Given the description of an element on the screen output the (x, y) to click on. 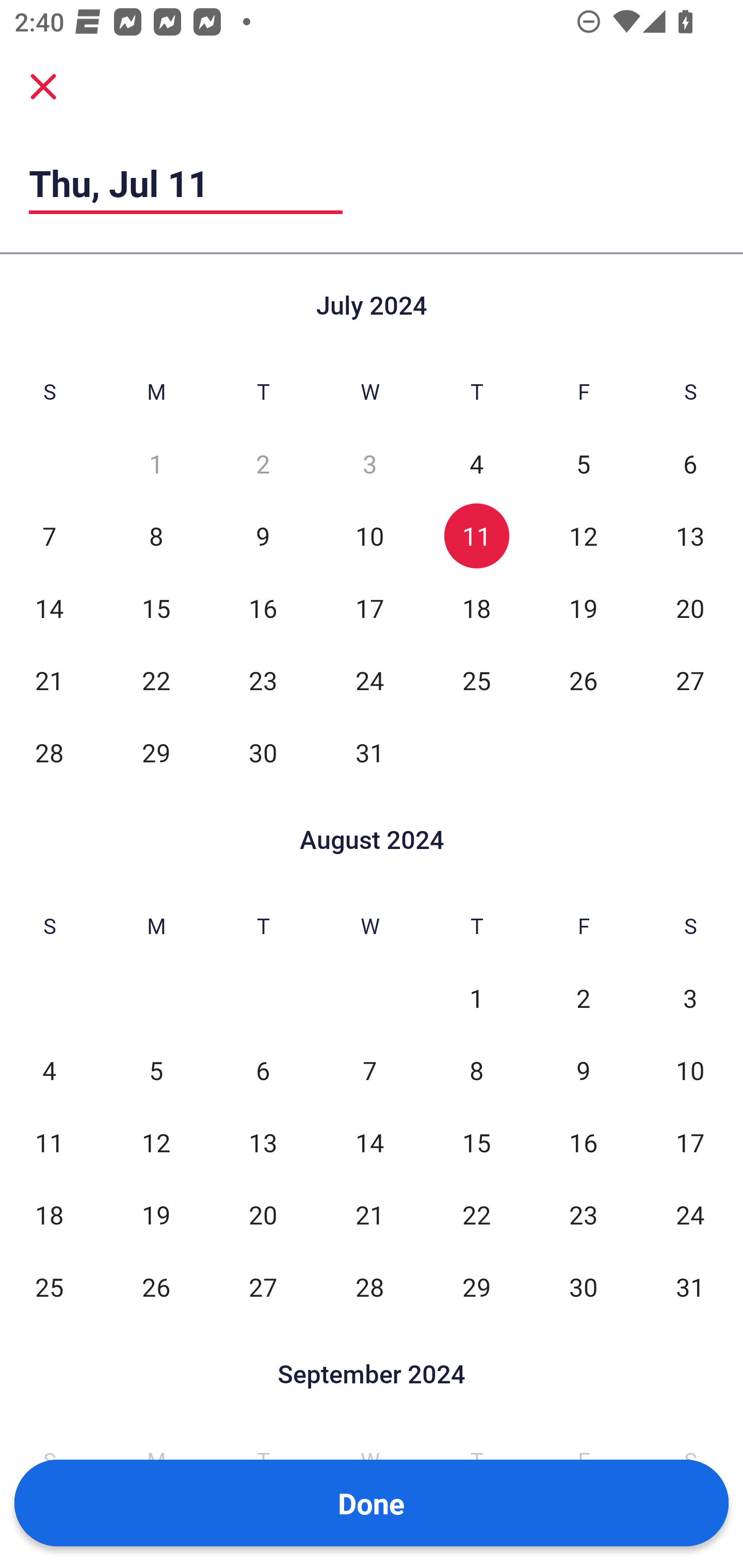
Cancel (43, 86)
Thu, Jul 11 (185, 182)
1 Mon, Jul 1, Not Selected (156, 464)
2 Tue, Jul 2, Not Selected (263, 464)
3 Wed, Jul 3, Not Selected (369, 464)
4 Thu, Jul 4, Not Selected (476, 464)
5 Fri, Jul 5, Not Selected (583, 464)
6 Sat, Jul 6, Not Selected (690, 464)
7 Sun, Jul 7, Not Selected (49, 536)
8 Mon, Jul 8, Not Selected (156, 536)
9 Tue, Jul 9, Not Selected (263, 536)
10 Wed, Jul 10, Not Selected (369, 536)
11 Thu, Jul 11, Selected (476, 536)
12 Fri, Jul 12, Not Selected (583, 536)
13 Sat, Jul 13, Not Selected (690, 536)
14 Sun, Jul 14, Not Selected (49, 608)
15 Mon, Jul 15, Not Selected (156, 608)
16 Tue, Jul 16, Not Selected (263, 608)
17 Wed, Jul 17, Not Selected (369, 608)
18 Thu, Jul 18, Not Selected (476, 608)
19 Fri, Jul 19, Not Selected (583, 608)
20 Sat, Jul 20, Not Selected (690, 608)
21 Sun, Jul 21, Not Selected (49, 680)
22 Mon, Jul 22, Not Selected (156, 680)
23 Tue, Jul 23, Not Selected (263, 680)
24 Wed, Jul 24, Not Selected (369, 680)
25 Thu, Jul 25, Not Selected (476, 680)
26 Fri, Jul 26, Not Selected (583, 680)
27 Sat, Jul 27, Not Selected (690, 680)
28 Sun, Jul 28, Not Selected (49, 752)
29 Mon, Jul 29, Not Selected (156, 752)
30 Tue, Jul 30, Not Selected (263, 752)
31 Wed, Jul 31, Not Selected (369, 752)
1 Thu, Aug 1, Not Selected (476, 997)
2 Fri, Aug 2, Not Selected (583, 997)
3 Sat, Aug 3, Not Selected (690, 997)
4 Sun, Aug 4, Not Selected (49, 1070)
5 Mon, Aug 5, Not Selected (156, 1070)
6 Tue, Aug 6, Not Selected (263, 1070)
7 Wed, Aug 7, Not Selected (369, 1070)
8 Thu, Aug 8, Not Selected (476, 1070)
9 Fri, Aug 9, Not Selected (583, 1070)
10 Sat, Aug 10, Not Selected (690, 1070)
11 Sun, Aug 11, Not Selected (49, 1143)
12 Mon, Aug 12, Not Selected (156, 1143)
13 Tue, Aug 13, Not Selected (263, 1143)
14 Wed, Aug 14, Not Selected (369, 1143)
15 Thu, Aug 15, Not Selected (476, 1143)
16 Fri, Aug 16, Not Selected (583, 1143)
17 Sat, Aug 17, Not Selected (690, 1143)
